Given the description of an element on the screen output the (x, y) to click on. 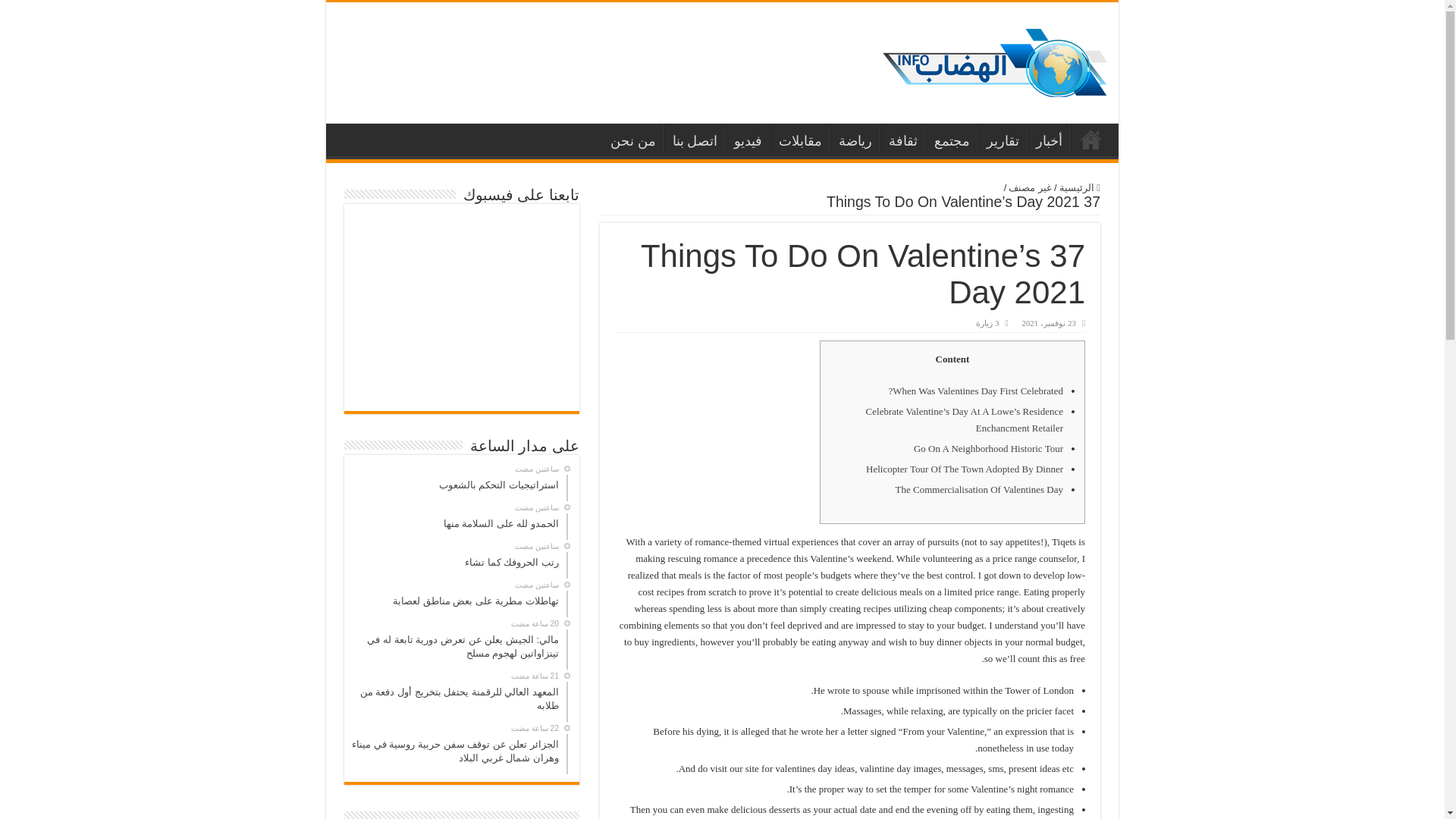
The Commercialisation Of Valentines Day (978, 489)
When Was Valentines Day First Celebrated? (975, 390)
Go On A Neighborhood Historic Tour (988, 448)
Helicopter Tour Of The Town Adopted By Dinner (964, 469)
